Given the description of an element on the screen output the (x, y) to click on. 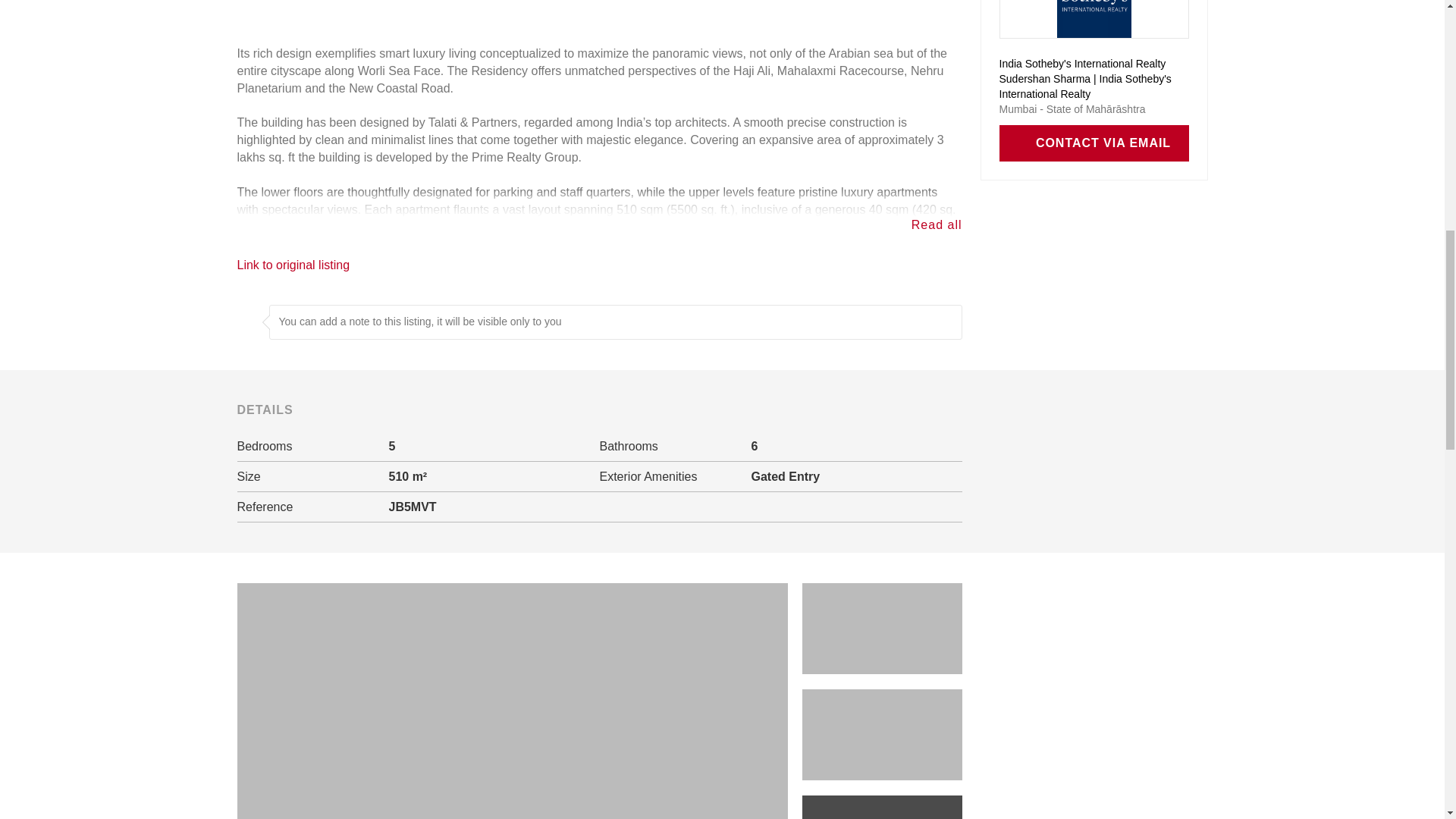
Link to original listing (292, 264)
Read all (936, 224)
